Given the description of an element on the screen output the (x, y) to click on. 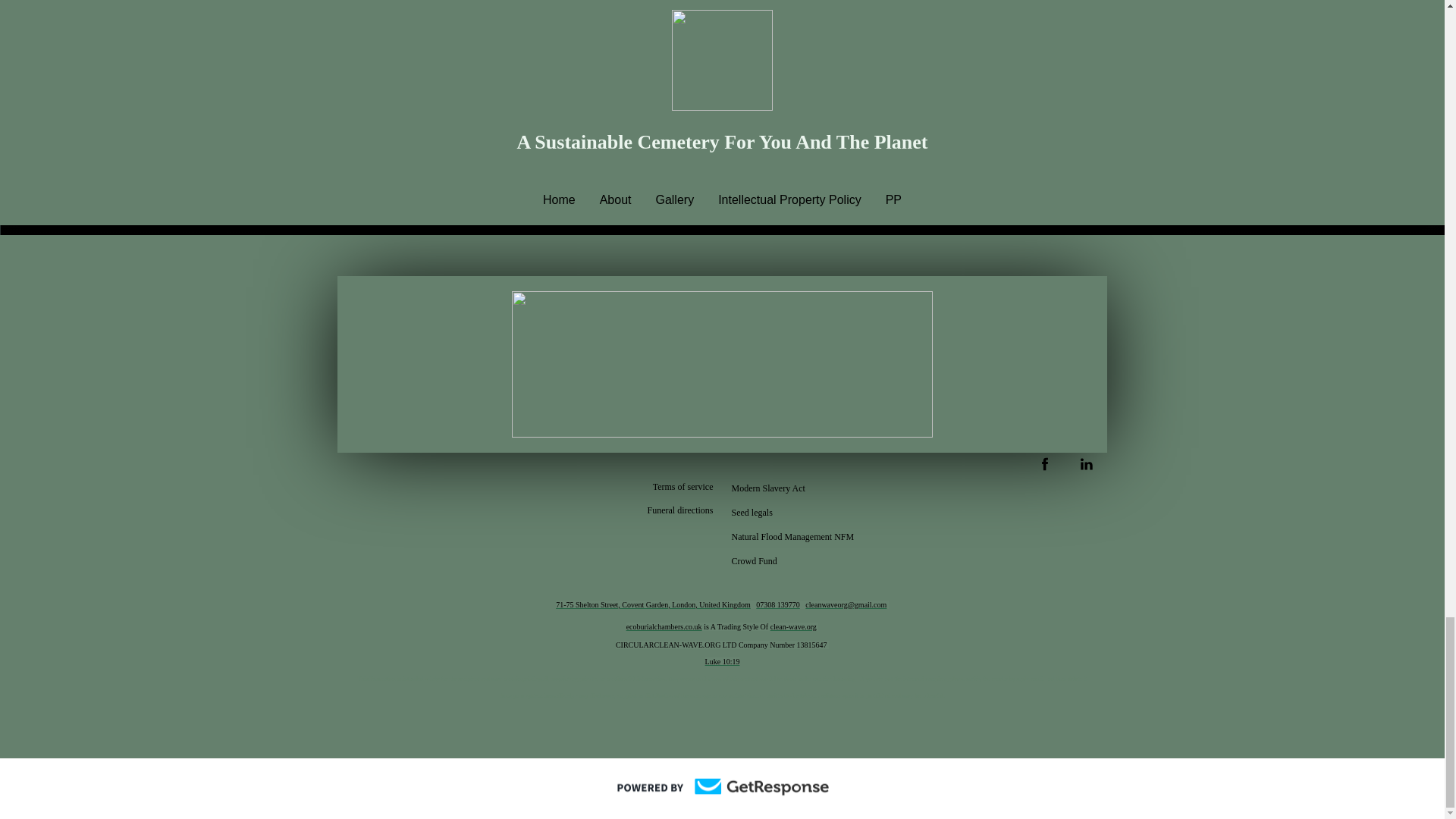
Funeral directions (680, 509)
Luke 10:19 (721, 659)
Terms of service (682, 486)
clean-wave.org (793, 626)
Crowd Fund (754, 559)
07308 139770 (777, 604)
Modern Slavery Act (767, 487)
Natural Flood Management NFM (792, 535)
71-75 Shelton Street, Covent Garden, London, United Kingdom (653, 604)
ecoburialchambers.co.uk (663, 626)
Seed legals (751, 511)
